Given the description of an element on the screen output the (x, y) to click on. 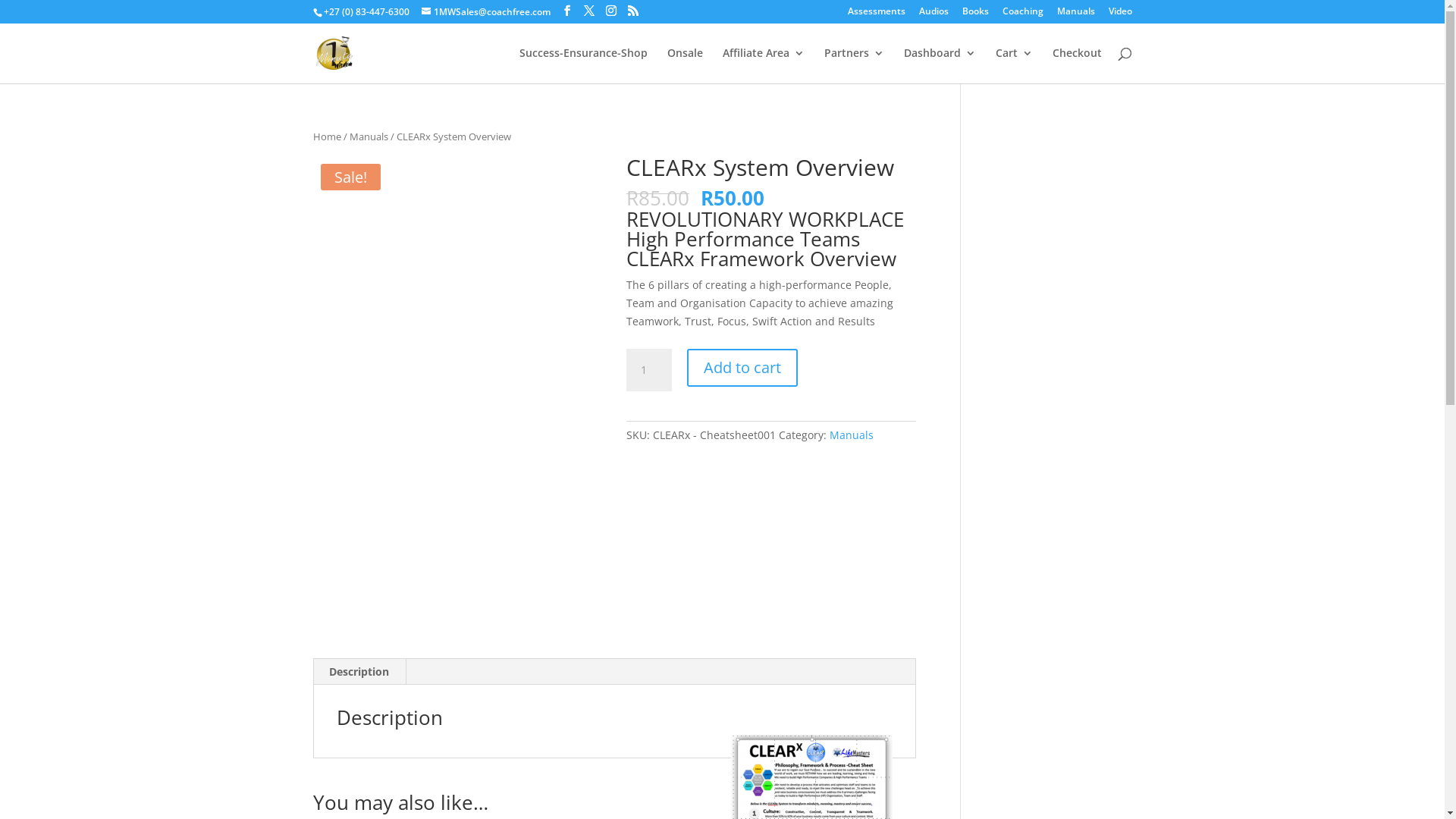
Assessments Element type: text (876, 14)
Success-Ensurance-Shop Element type: text (582, 65)
Video Element type: text (1120, 14)
Partners Element type: text (853, 65)
Coaching Element type: text (1022, 14)
Books Element type: text (974, 14)
Audios Element type: text (933, 14)
Add to cart Element type: text (742, 367)
1MWSales@coachfree.com Element type: text (485, 11)
Manuals Element type: text (851, 434)
Manuals Element type: text (367, 136)
Onsale Element type: text (684, 65)
Affiliate Area Element type: text (762, 65)
Description Element type: text (358, 671)
Manuals Element type: text (1076, 14)
Checkout Element type: text (1076, 65)
Home Element type: text (326, 136)
Dashboard Element type: text (939, 65)
Cart Element type: text (1013, 65)
